Given the description of an element on the screen output the (x, y) to click on. 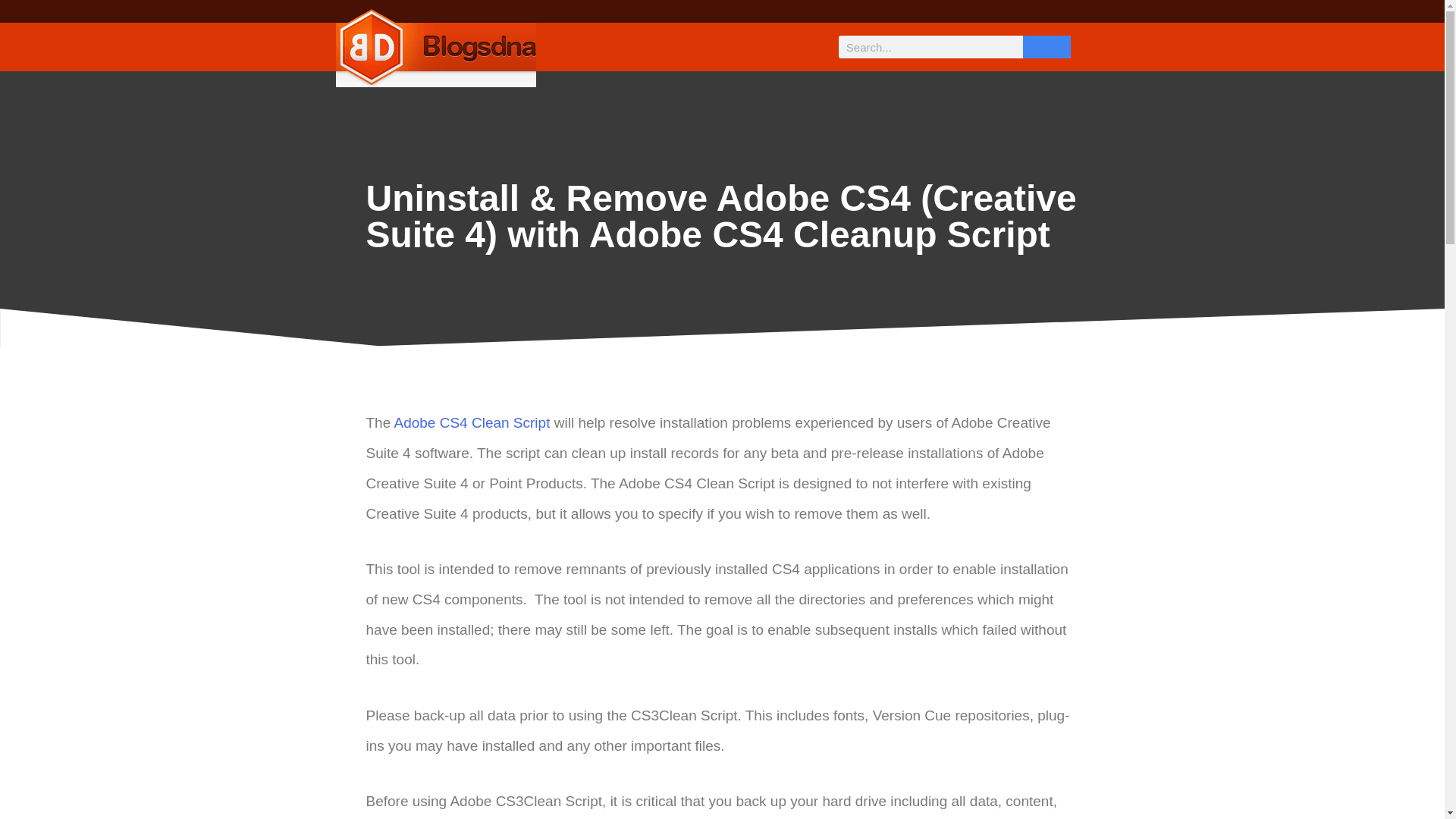
Search (1046, 47)
logo-croped (434, 47)
Adobe CS4 Clean Script (471, 422)
Adobe CS4 Clean Script (471, 422)
